Given the description of an element on the screen output the (x, y) to click on. 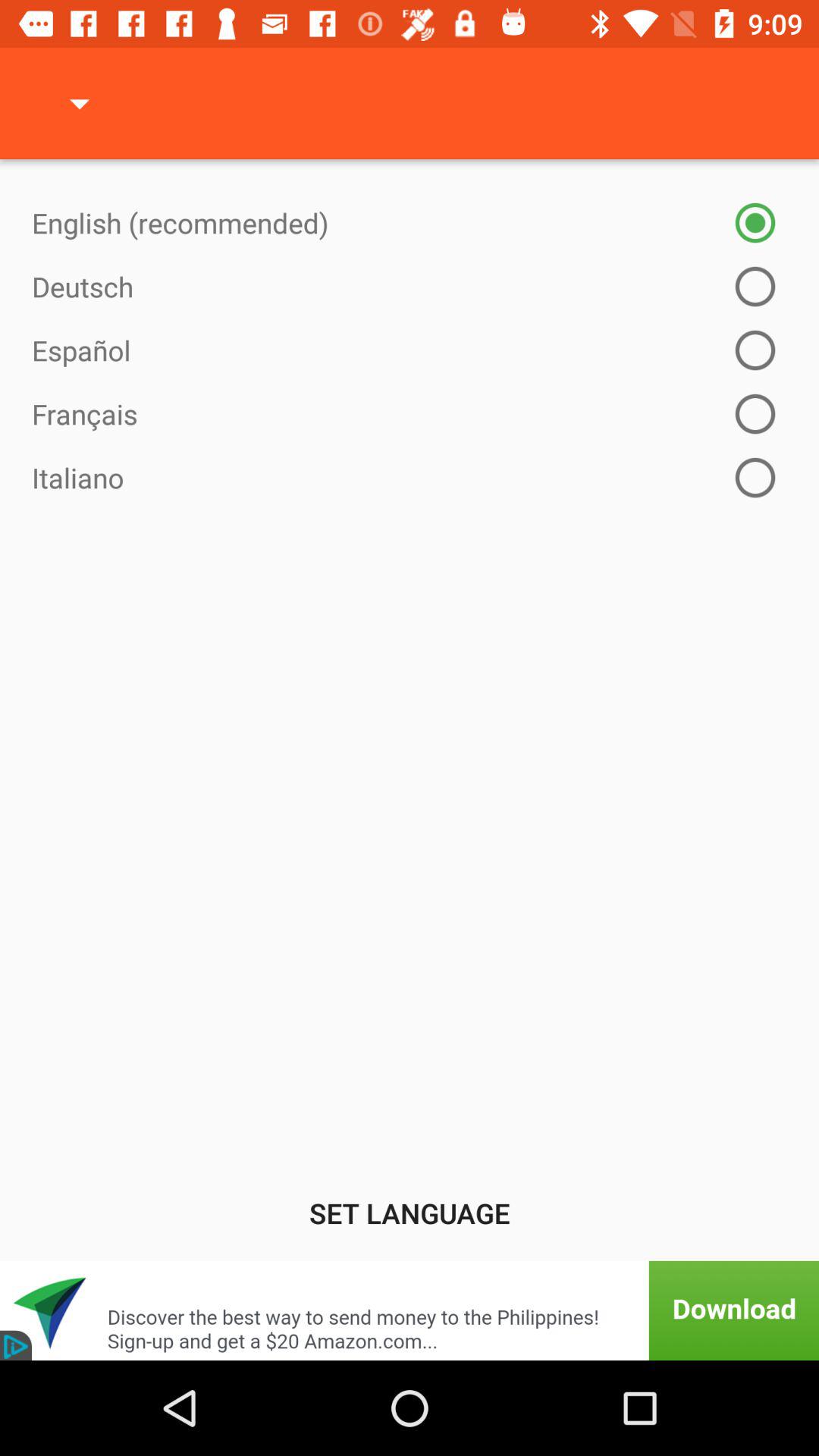
turn on icon at the top left corner (79, 103)
